Given the description of an element on the screen output the (x, y) to click on. 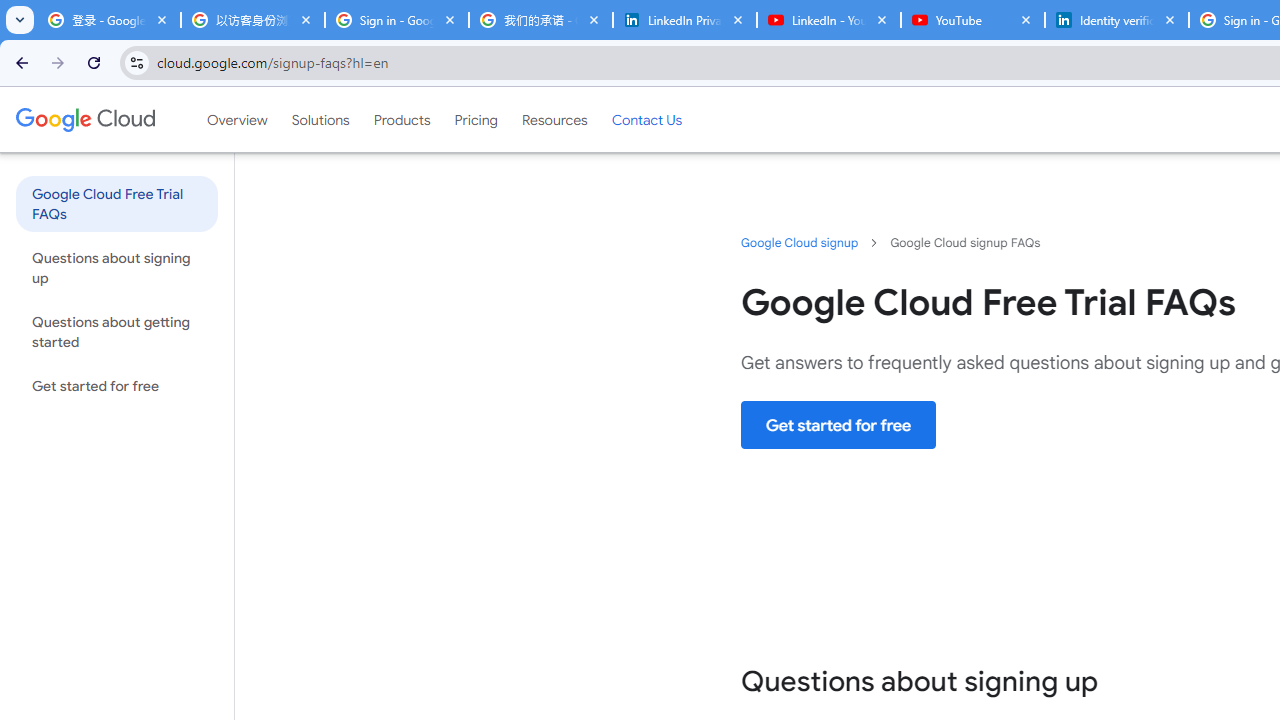
YouTube (972, 20)
Products (401, 119)
Pricing (476, 119)
Contact Us (646, 119)
Get started for free (838, 425)
Solutions (320, 119)
Google Cloud (84, 119)
Resources (553, 119)
